Given the description of an element on the screen output the (x, y) to click on. 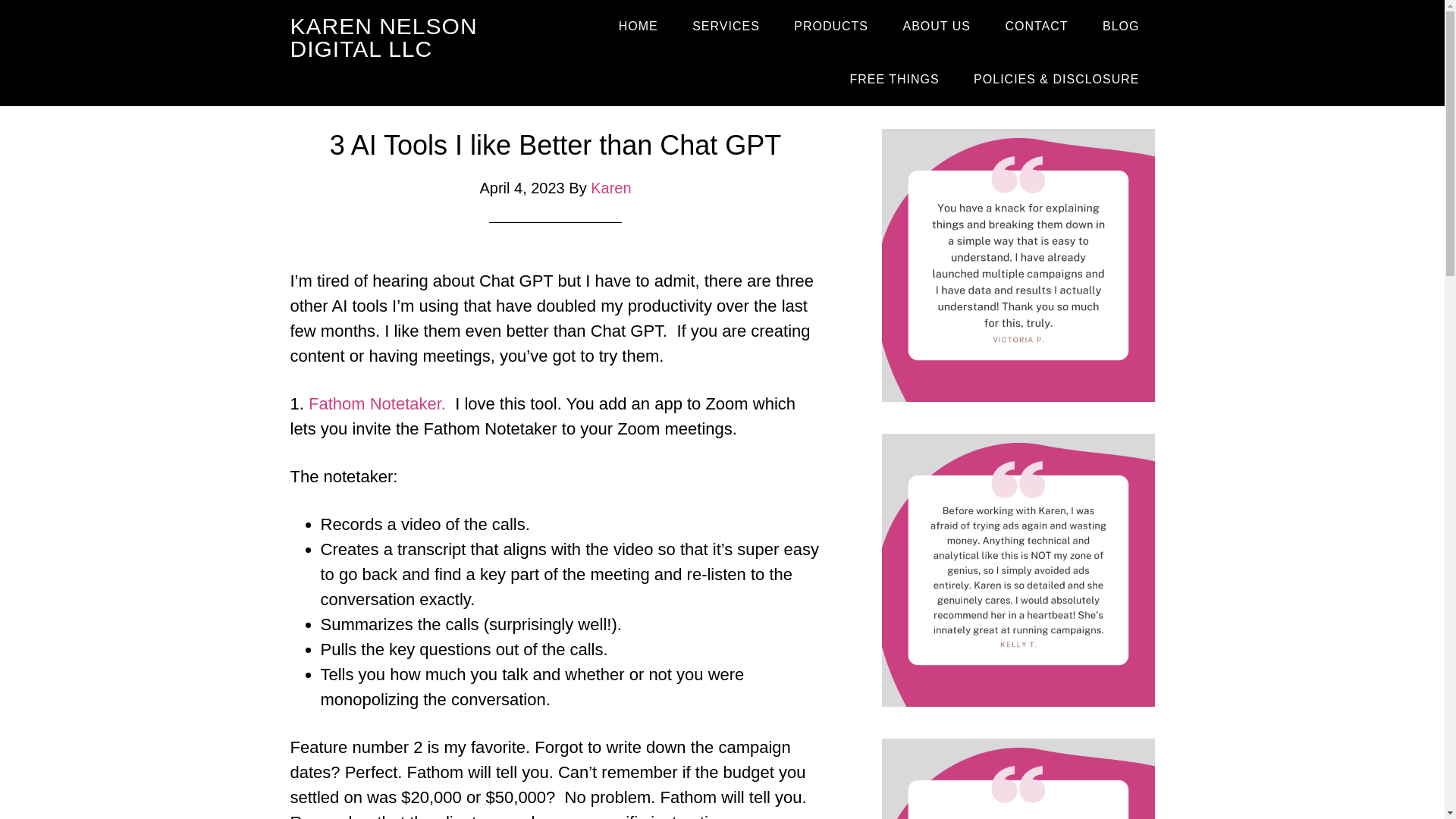
Karen (610, 187)
KAREN NELSON DIGITAL LLC (383, 37)
BLOG (1120, 26)
FREE THINGS (893, 79)
CONTACT (1036, 26)
Fathom Notetaker. (376, 403)
PRODUCTS (830, 26)
ABOUT US (935, 26)
SERVICES (725, 26)
HOME (638, 26)
